Given the description of an element on the screen output the (x, y) to click on. 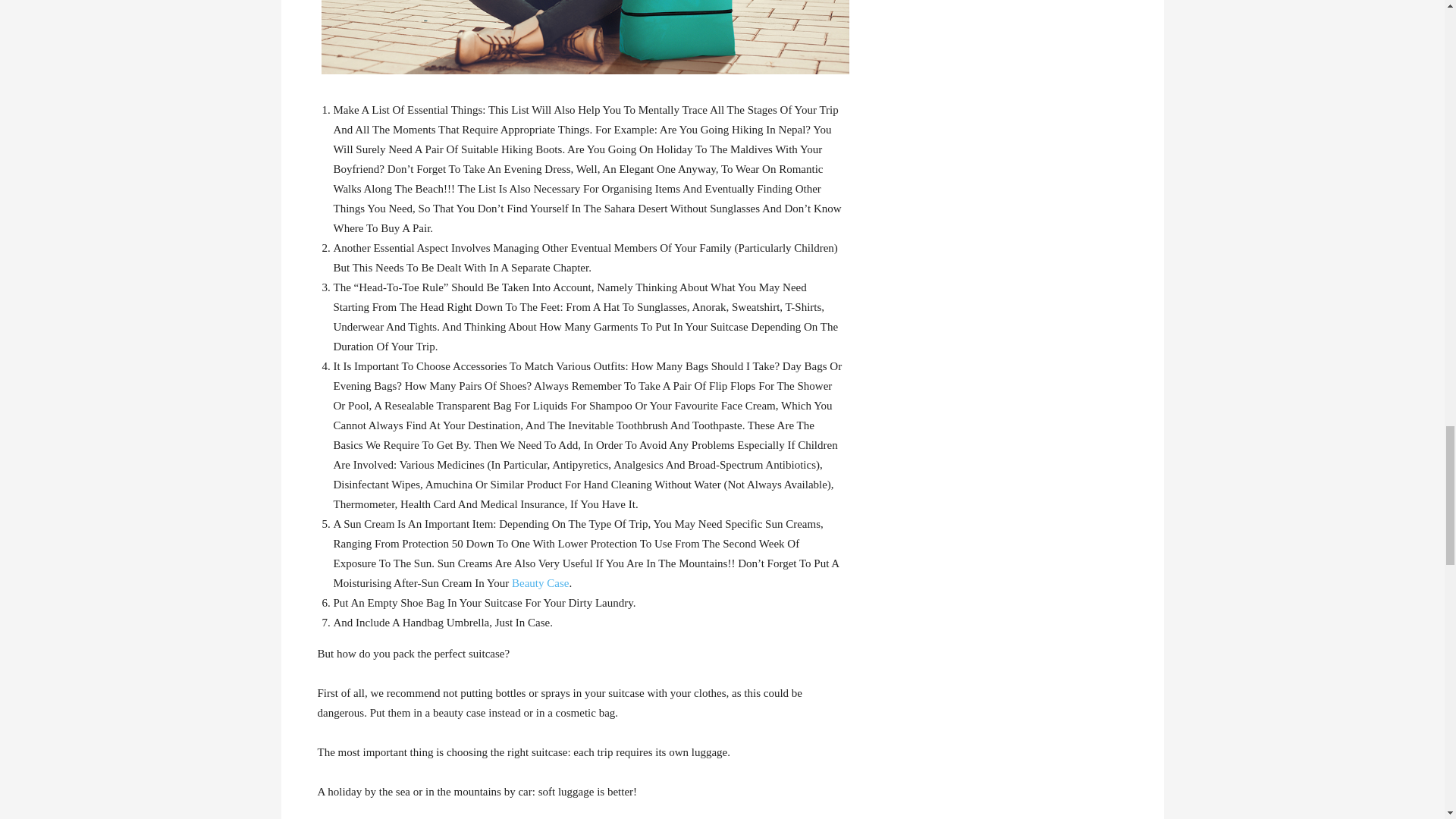
Beauty Case (540, 582)
